Given the description of an element on the screen output the (x, y) to click on. 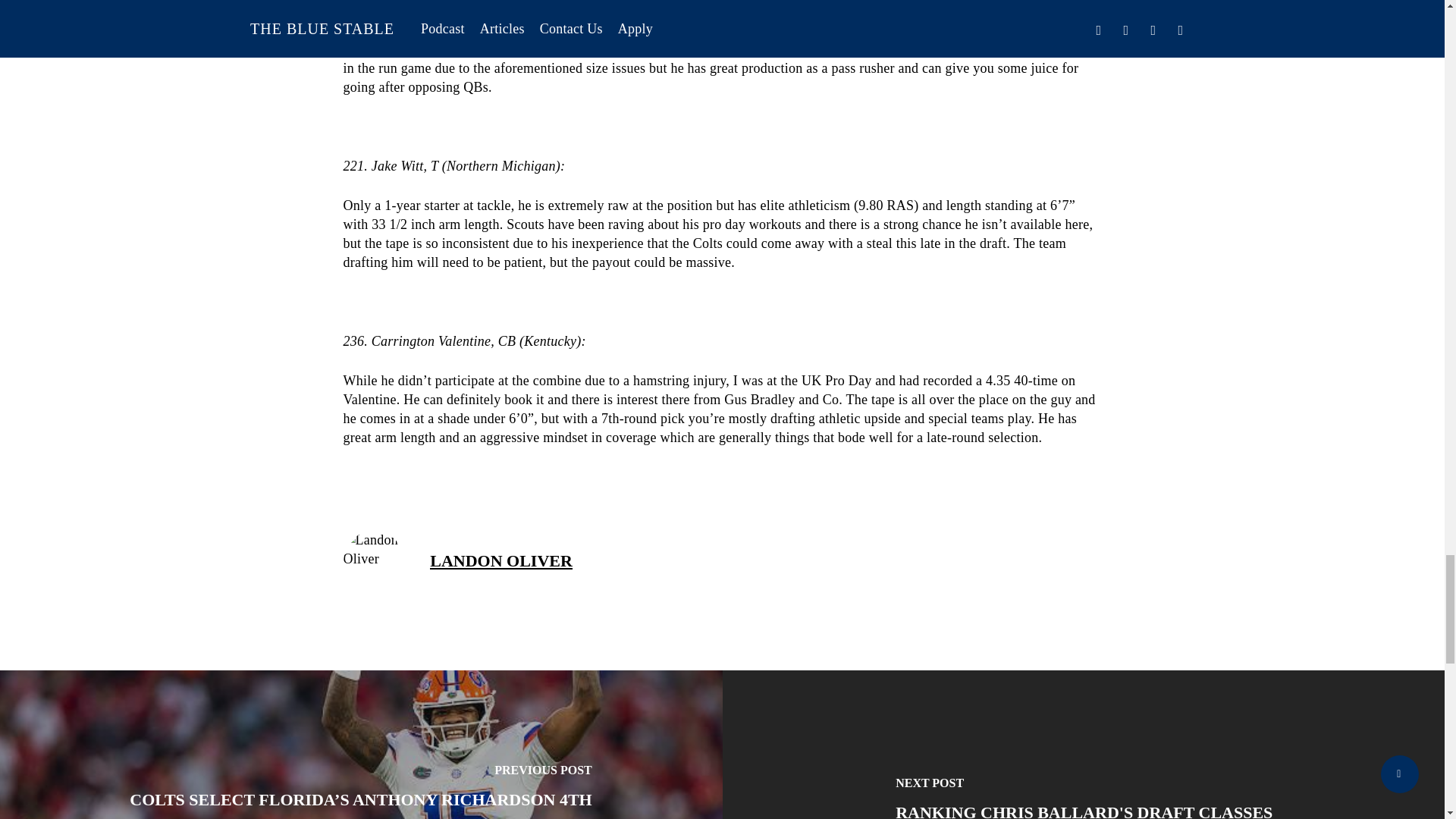
LANDON OLIVER (500, 560)
